Given the description of an element on the screen output the (x, y) to click on. 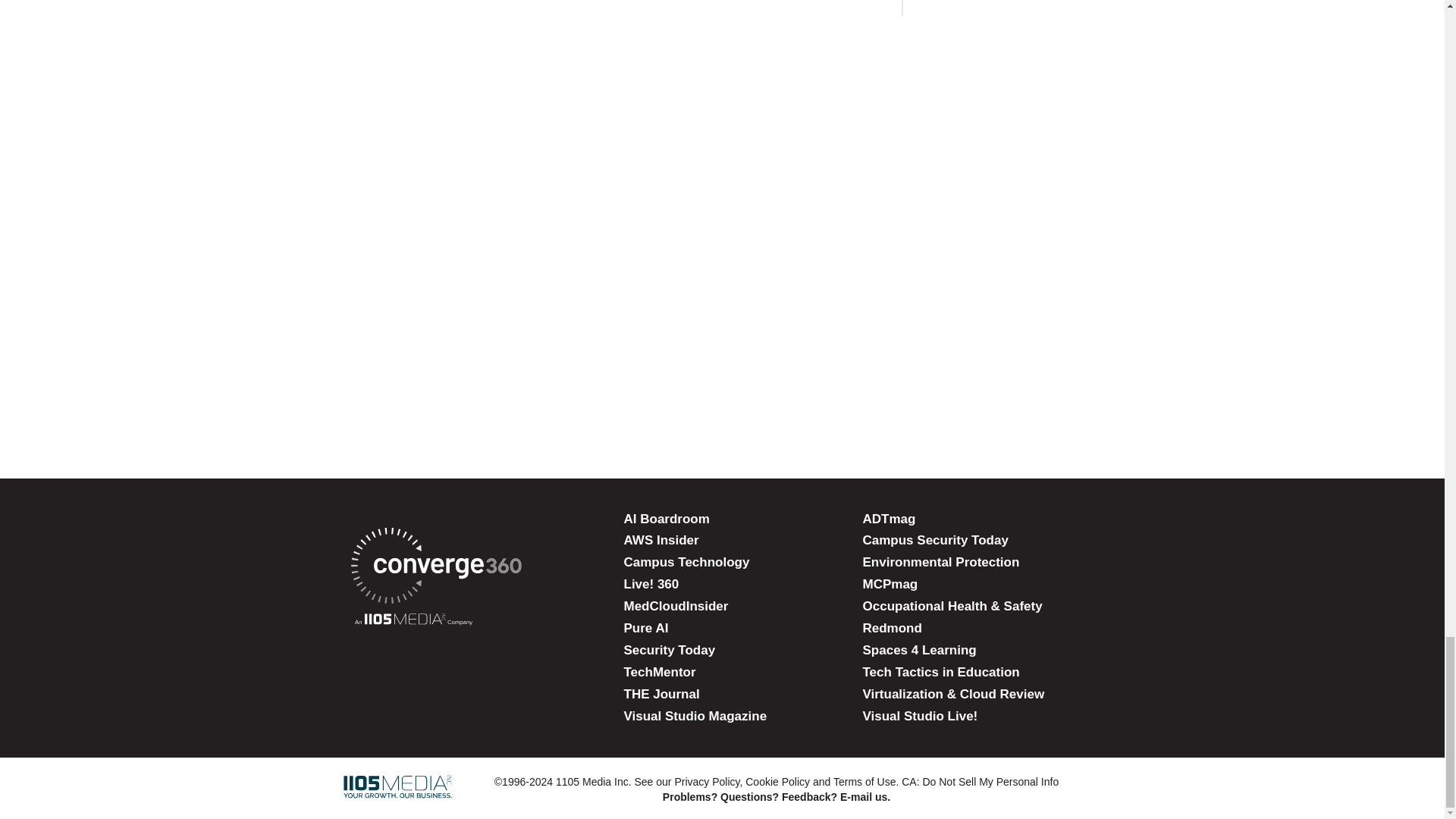
3rd party ad content (721, 386)
3rd party ad content (721, 68)
